Given the description of an element on the screen output the (x, y) to click on. 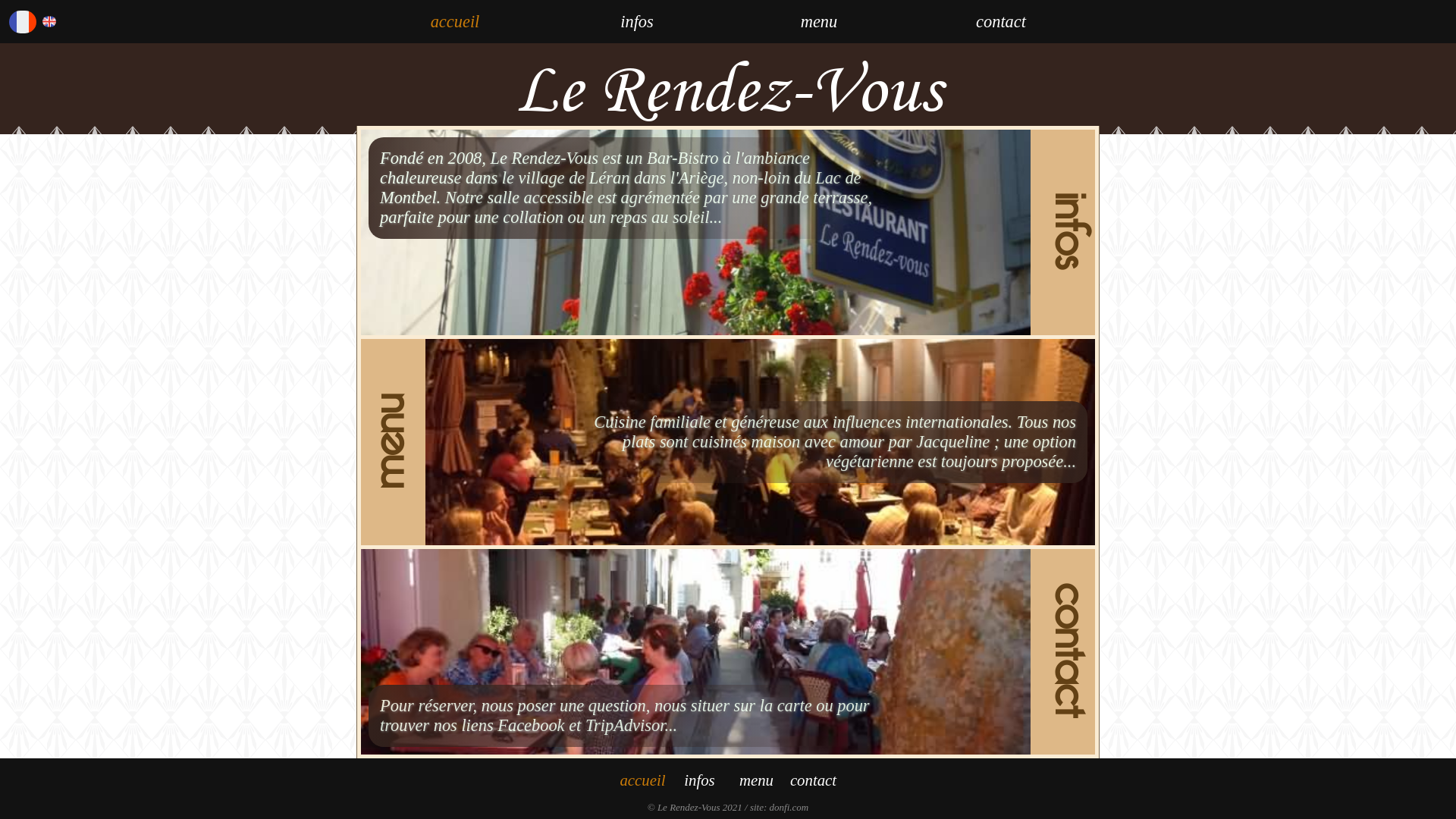
contact Element type: text (813, 778)
menu Element type: text (756, 778)
accueil Element type: text (642, 778)
infos Element type: text (699, 778)
donfi.com Element type: text (789, 806)
contact Element type: text (1000, 21)
menu Element type: text (818, 21)
accueil Element type: text (455, 21)
infos Element type: text (636, 21)
